Given the description of an element on the screen output the (x, y) to click on. 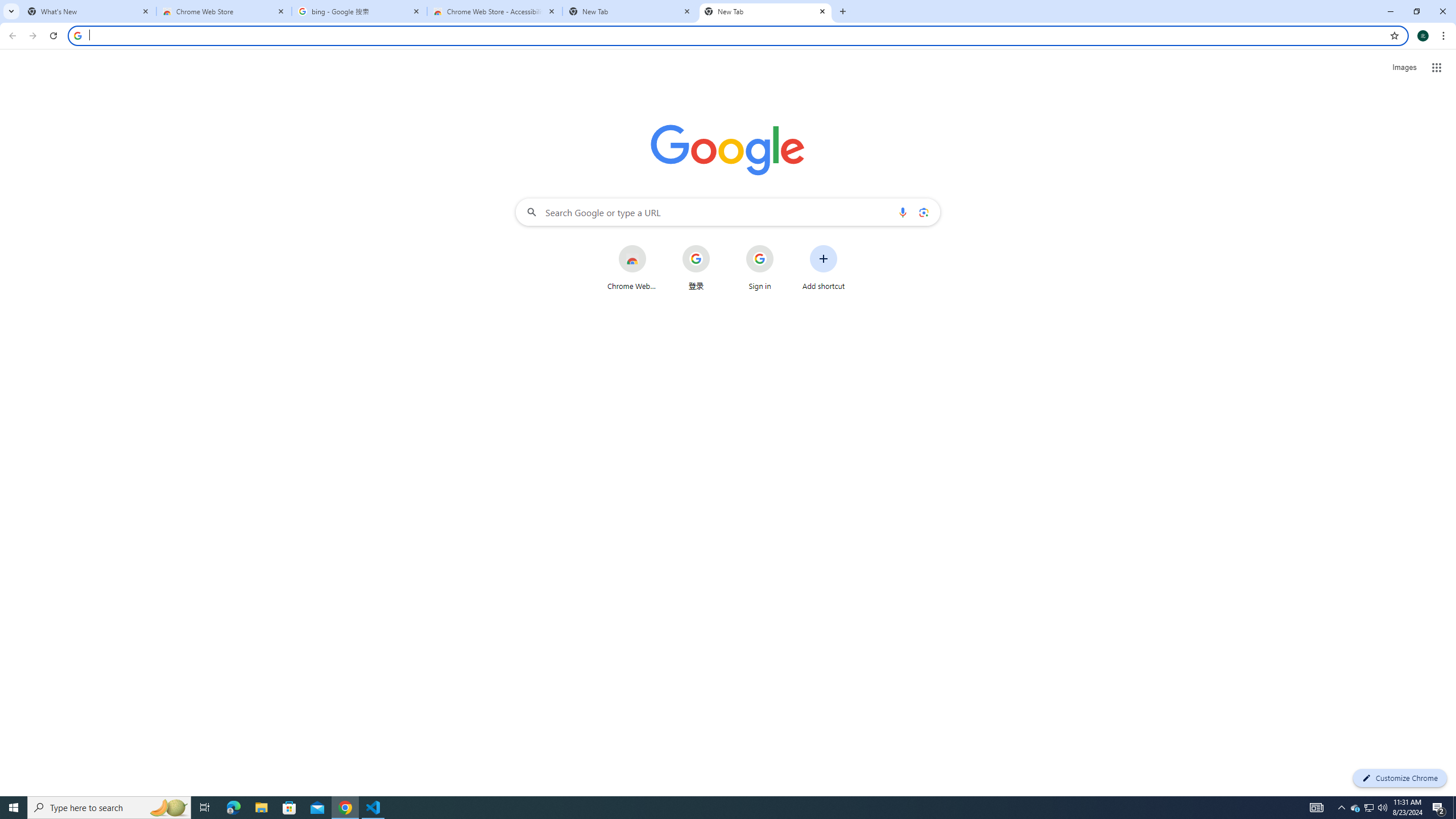
Search icon (77, 35)
Close (821, 11)
Search tabs (10, 11)
Add shortcut (824, 267)
Back (10, 35)
Google apps (1436, 67)
Restore (1416, 11)
Sign in (760, 267)
System (6, 6)
Chrome Web Store (631, 267)
Forward (32, 35)
What's New (88, 11)
Customize Chrome (1399, 778)
